Given the description of an element on the screen output the (x, y) to click on. 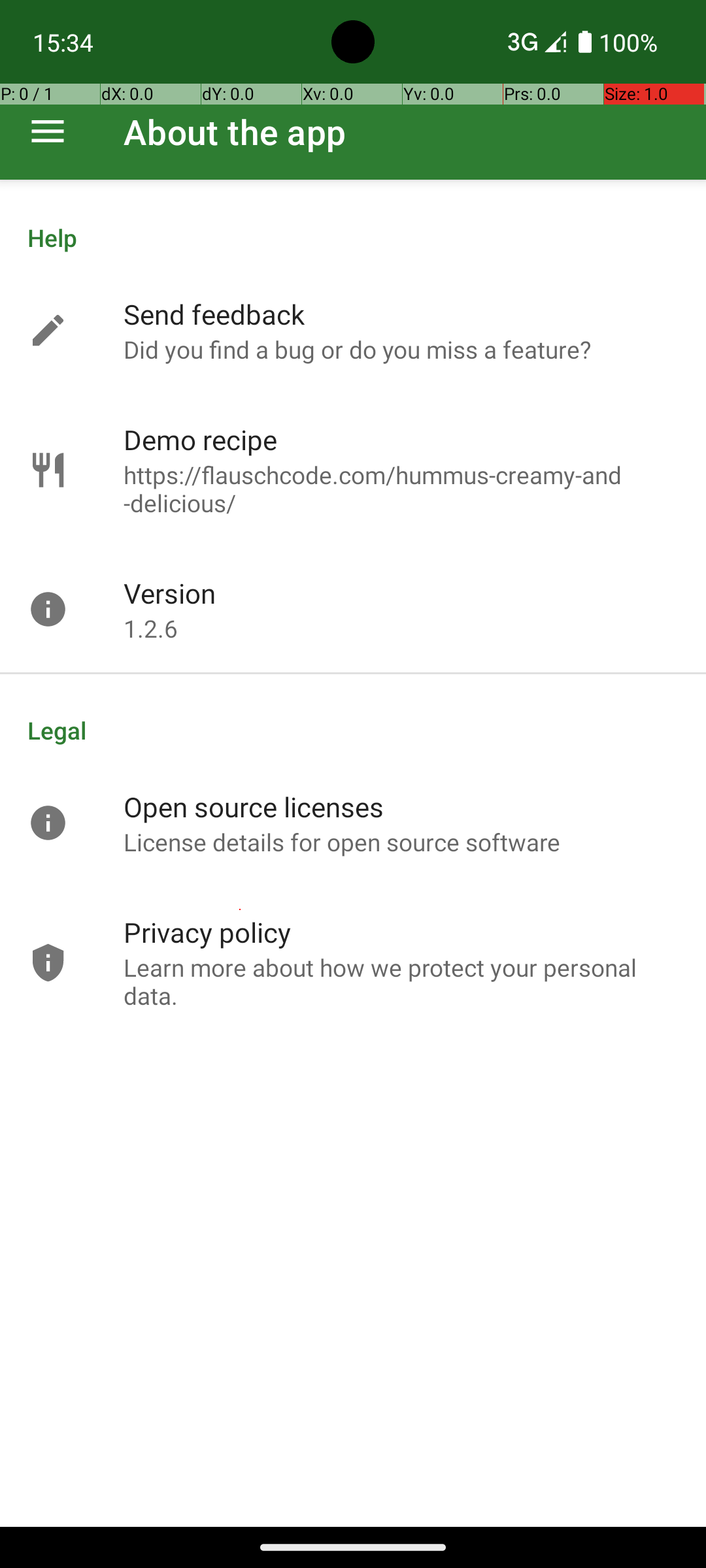
About the app Element type: android.widget.TextView (234, 131)
Send feedback Element type: android.widget.TextView (213, 313)
Did you find a bug or do you miss a feature? Element type: android.widget.TextView (356, 348)
Demo recipe Element type: android.widget.TextView (200, 438)
https://flauschcode.com/hummus-creamy-and-delicious/ Element type: android.widget.TextView (400, 488)
Version Element type: android.widget.TextView (169, 592)
1.2.6 Element type: android.widget.TextView (150, 627)
Legal Element type: android.widget.TextView (352, 729)
Open source licenses Element type: android.widget.TextView (253, 806)
License details for open source software Element type: android.widget.TextView (341, 841)
Privacy policy Element type: android.widget.TextView (206, 931)
Learn more about how we protect your personal data. Element type: android.widget.TextView (400, 981)
